Given the description of an element on the screen output the (x, y) to click on. 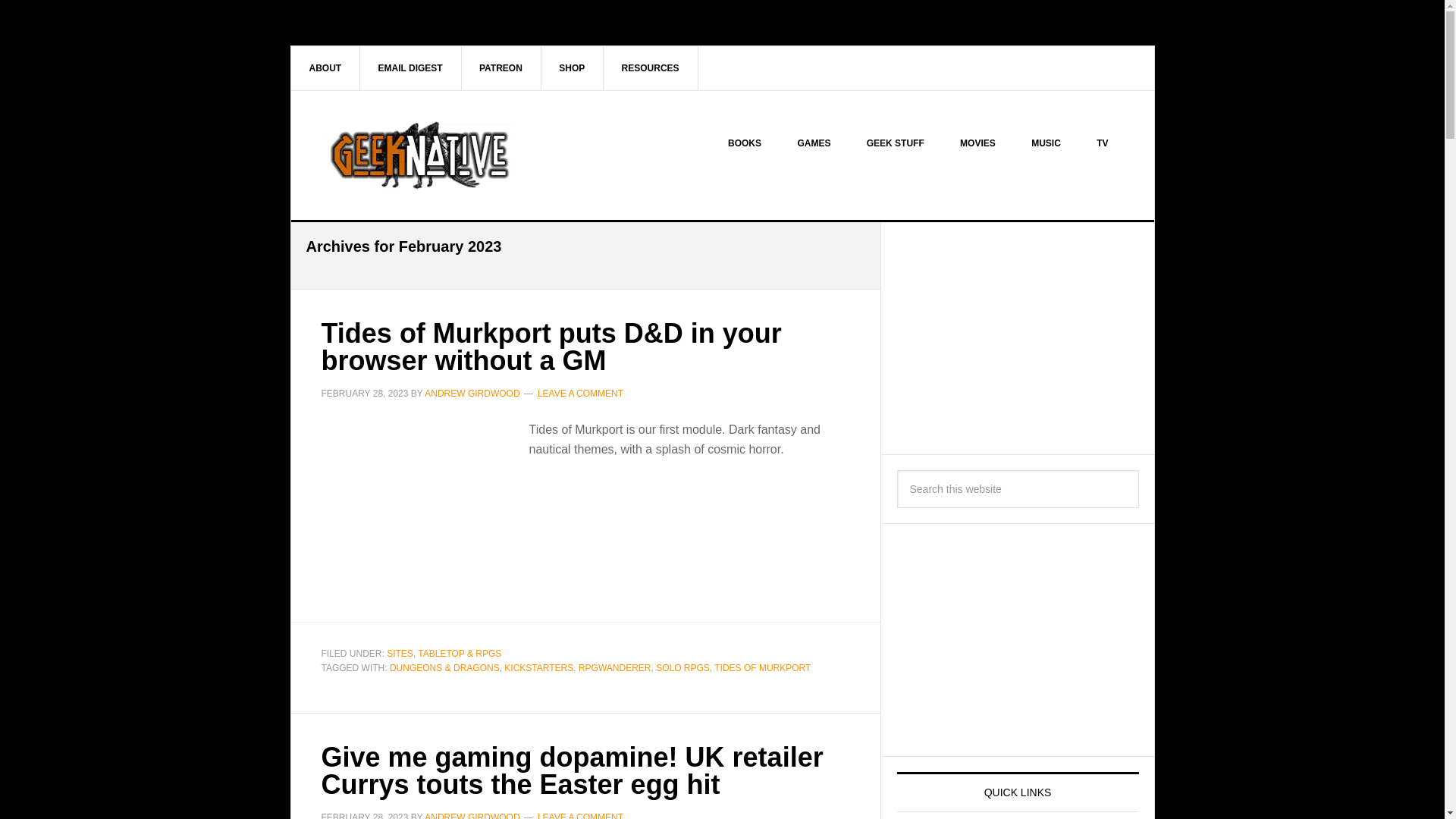
EMAIL DIGEST (410, 67)
MOVIES (977, 143)
GEEK STUFF (895, 143)
TV (1101, 143)
SHOP (572, 67)
BOOKS (744, 143)
PATREON (501, 67)
GAMES (813, 143)
